Given the description of an element on the screen output the (x, y) to click on. 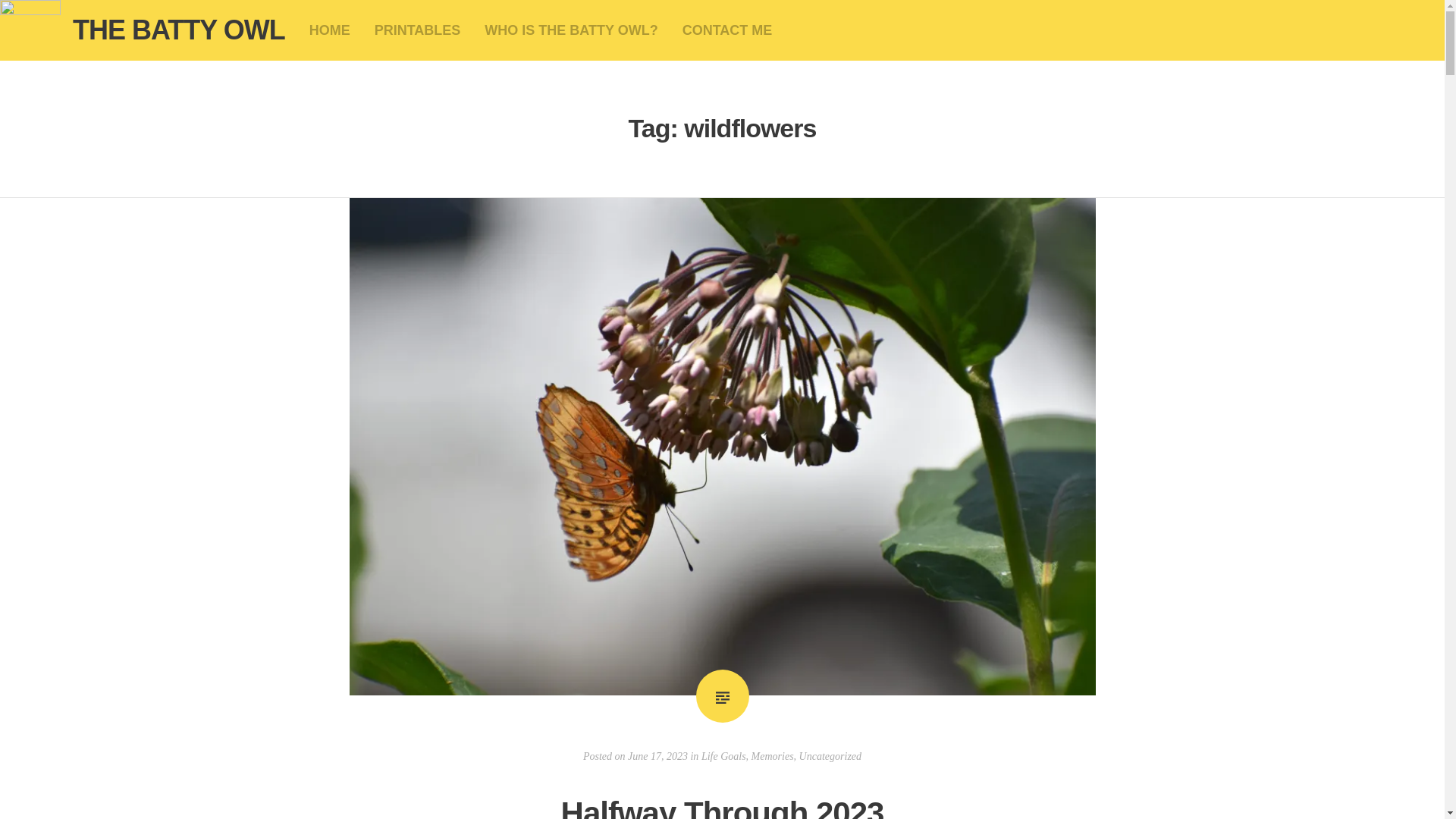
CONTACT ME (727, 29)
THE BATTY OWL (178, 29)
Uncategorized (830, 756)
The Batty Owl (30, 30)
HOME (329, 29)
Life Goals (723, 756)
June 17, 2023 (657, 756)
Memories (772, 756)
PRINTABLES (417, 29)
Halfway Through 2023 (721, 807)
WHO IS THE BATTY OWL? (571, 29)
